Given the description of an element on the screen output the (x, y) to click on. 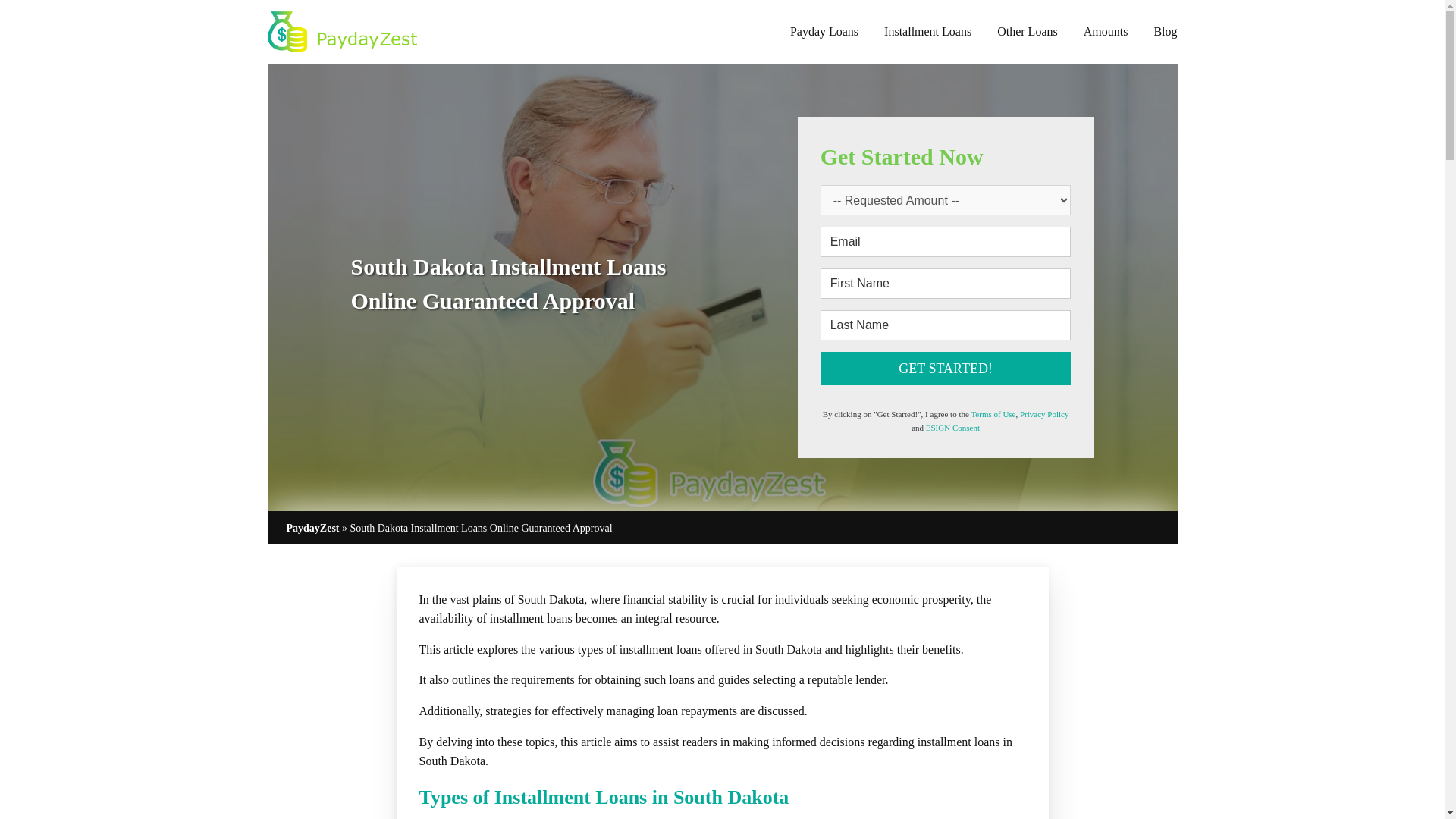
Amounts (1105, 31)
Get Started! (946, 368)
Payday Loans (824, 31)
Get Started! (946, 368)
Installment Loans (927, 31)
Other Loans (1027, 31)
Go to PaydayZest. (312, 527)
